Given the description of an element on the screen output the (x, y) to click on. 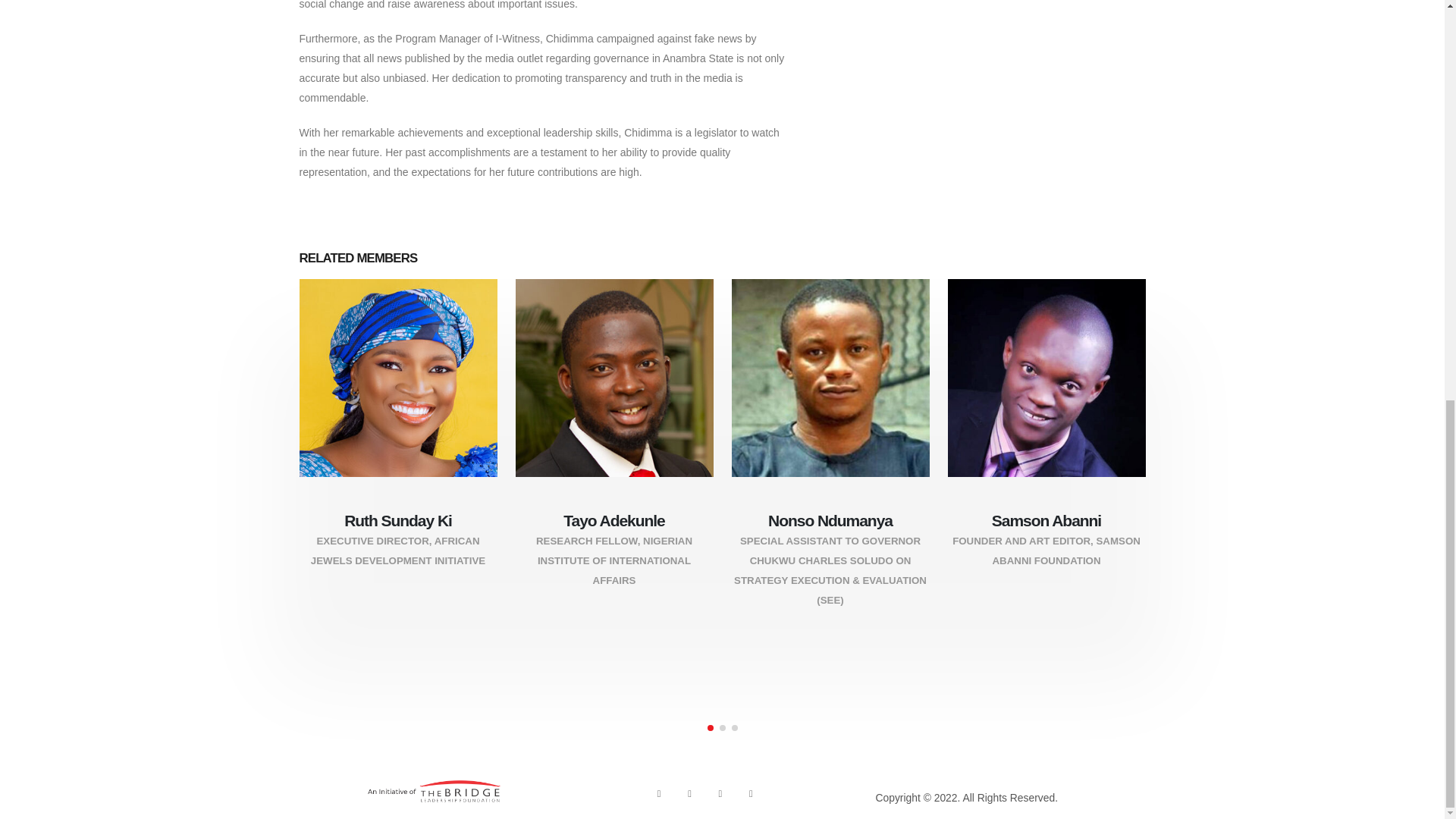
LinkedIn (750, 793)
Facebook (658, 793)
Instagram (719, 793)
Twitter (689, 793)
